Given the description of an element on the screen output the (x, y) to click on. 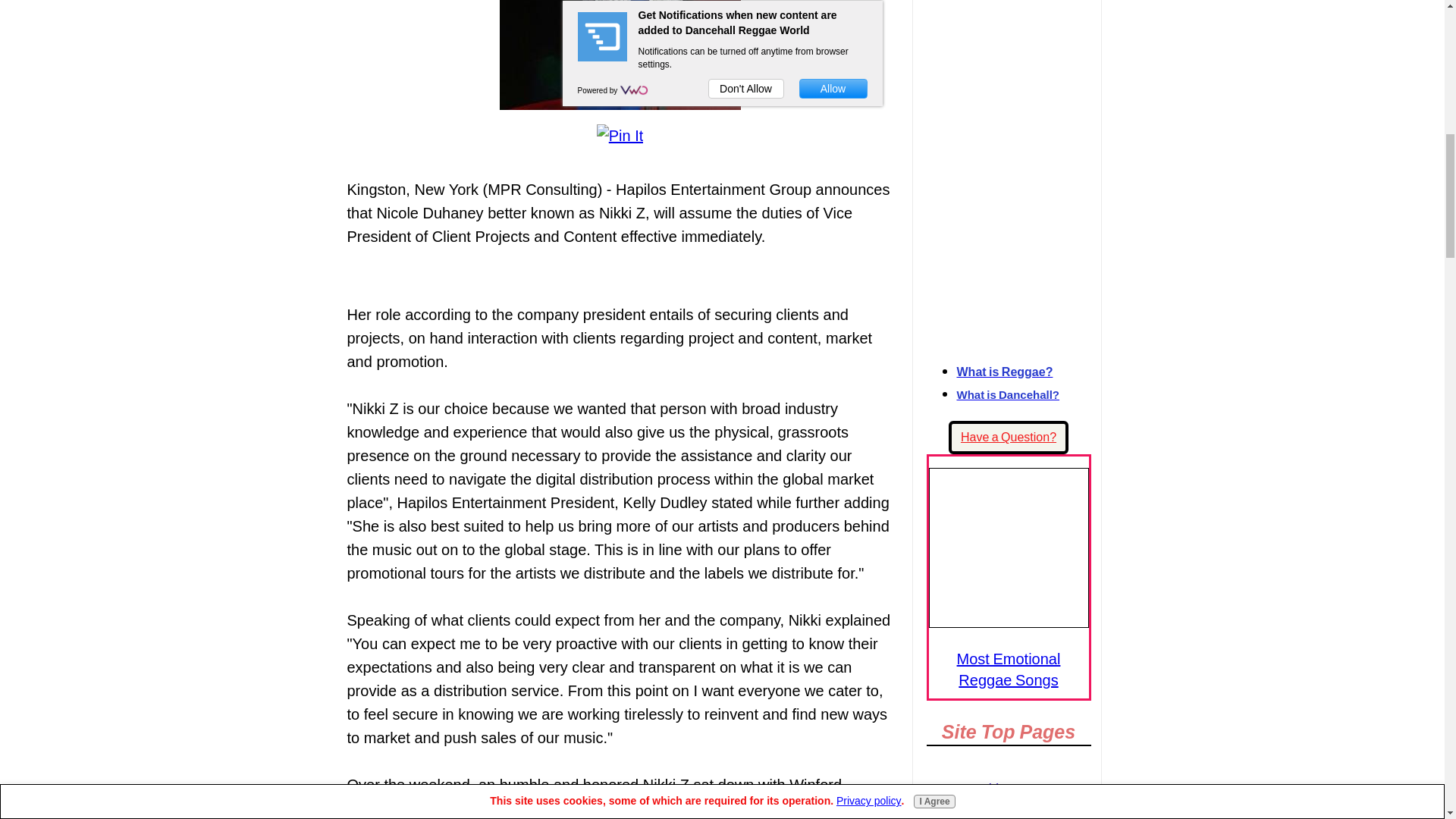
Articles (1008, 811)
Most Emotional Reggae Songs (1007, 547)
What is Reggae? (1004, 371)
Have a Question? (1008, 437)
Go to Most Emotional Reggae Songs (1007, 622)
Go to Have A Question? Please Ask... (1008, 437)
Home (1008, 789)
Most Emotional Reggae Songs (1008, 669)
What is Dancehall? (1007, 394)
Pin It (619, 136)
